Given the description of an element on the screen output the (x, y) to click on. 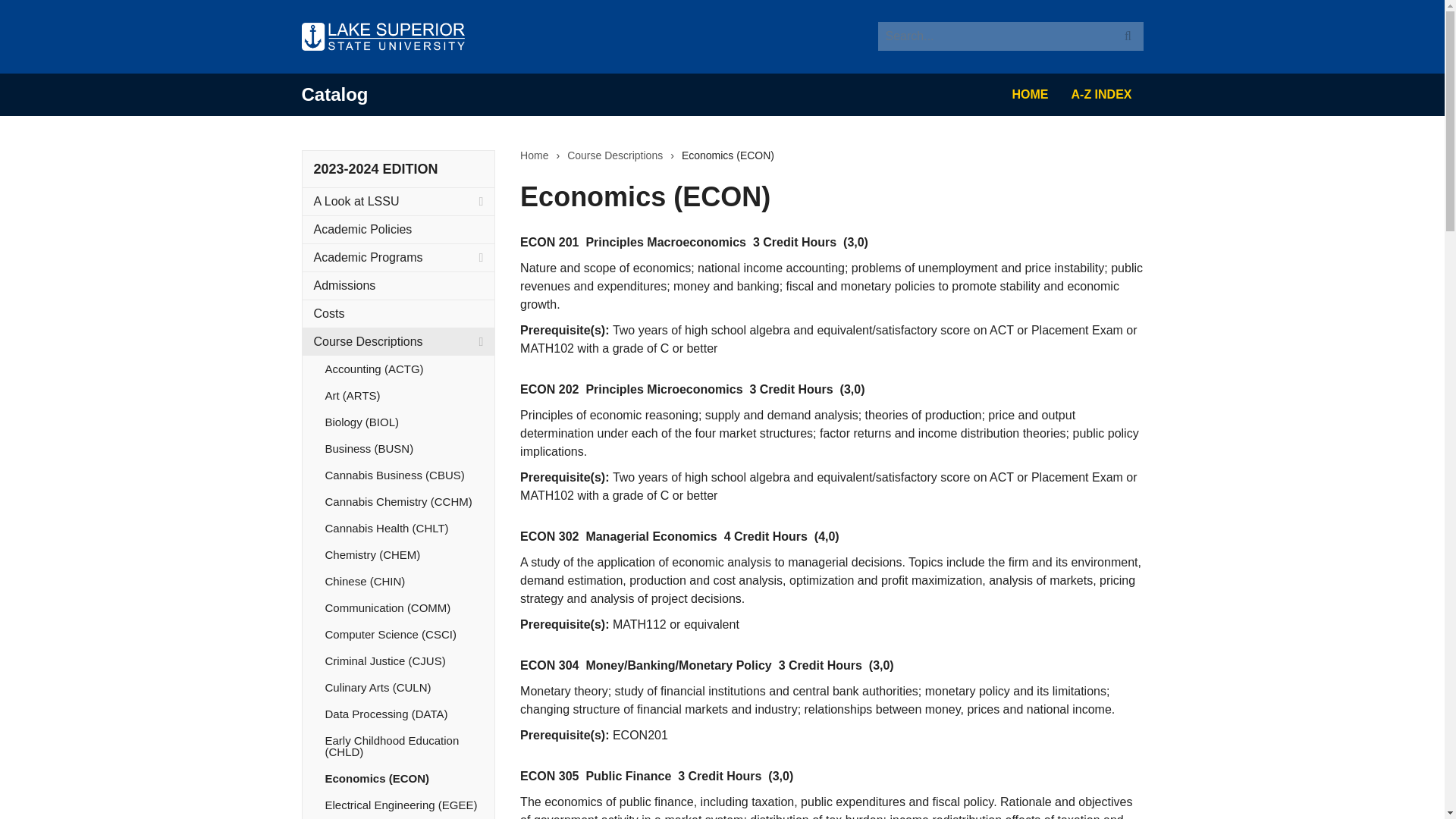
Academic Policies (397, 229)
Catalog (334, 94)
Toggle Academic Programs (481, 257)
A-Z INDEX (1100, 94)
Submit search (1127, 36)
A Look at LSSU (397, 201)
2023-2024 EDITION (376, 168)
Toggle A Look at LSSU (481, 201)
HOME (1030, 94)
Academic Programs (397, 257)
